Given the description of an element on the screen output the (x, y) to click on. 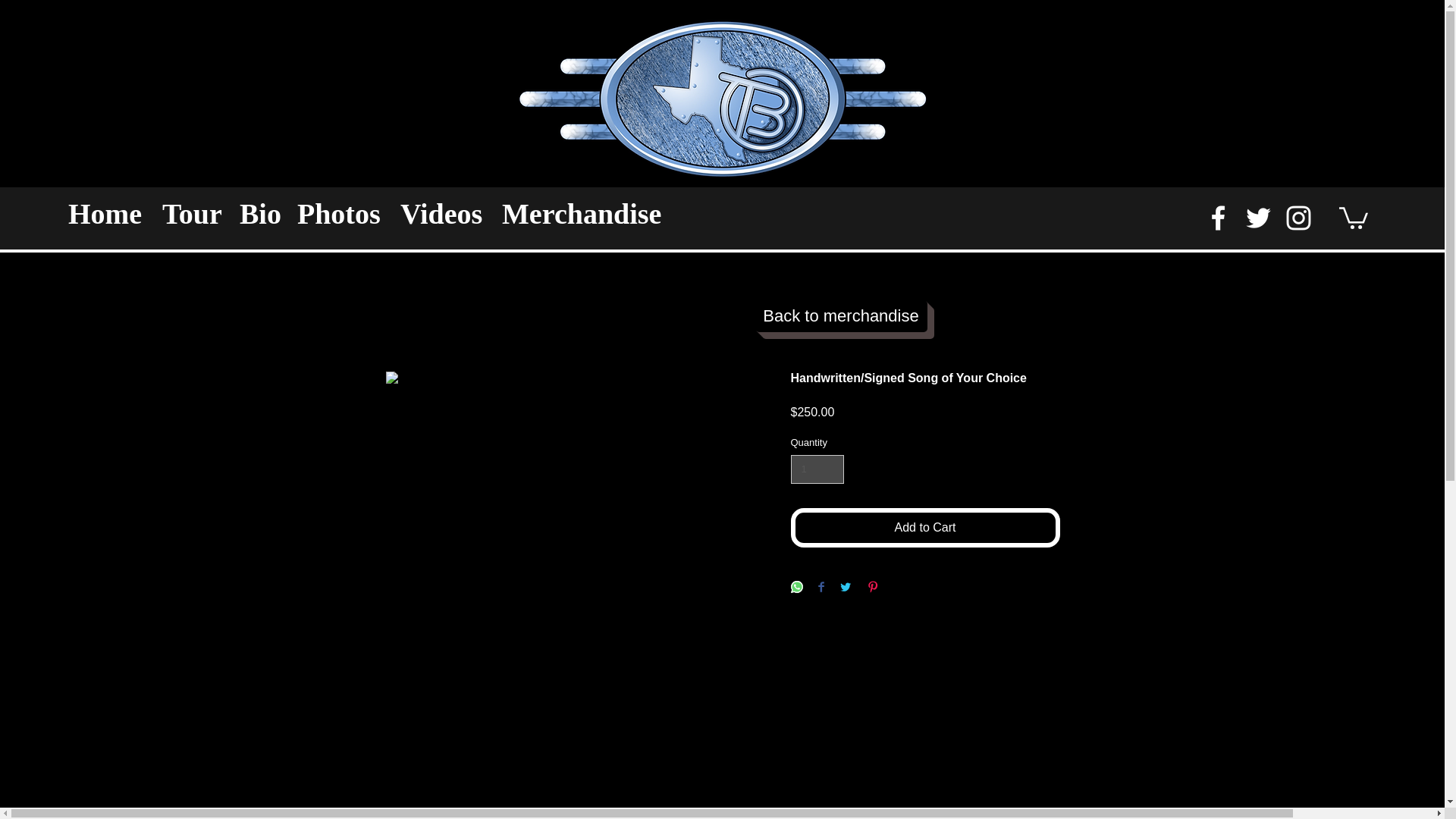
1 (817, 469)
Add to Cart (924, 527)
Merchandise (586, 213)
Back to merchandise (841, 316)
Home (107, 213)
Tour (192, 213)
Videos (444, 213)
Bio (260, 213)
Photos (341, 213)
